Given the description of an element on the screen output the (x, y) to click on. 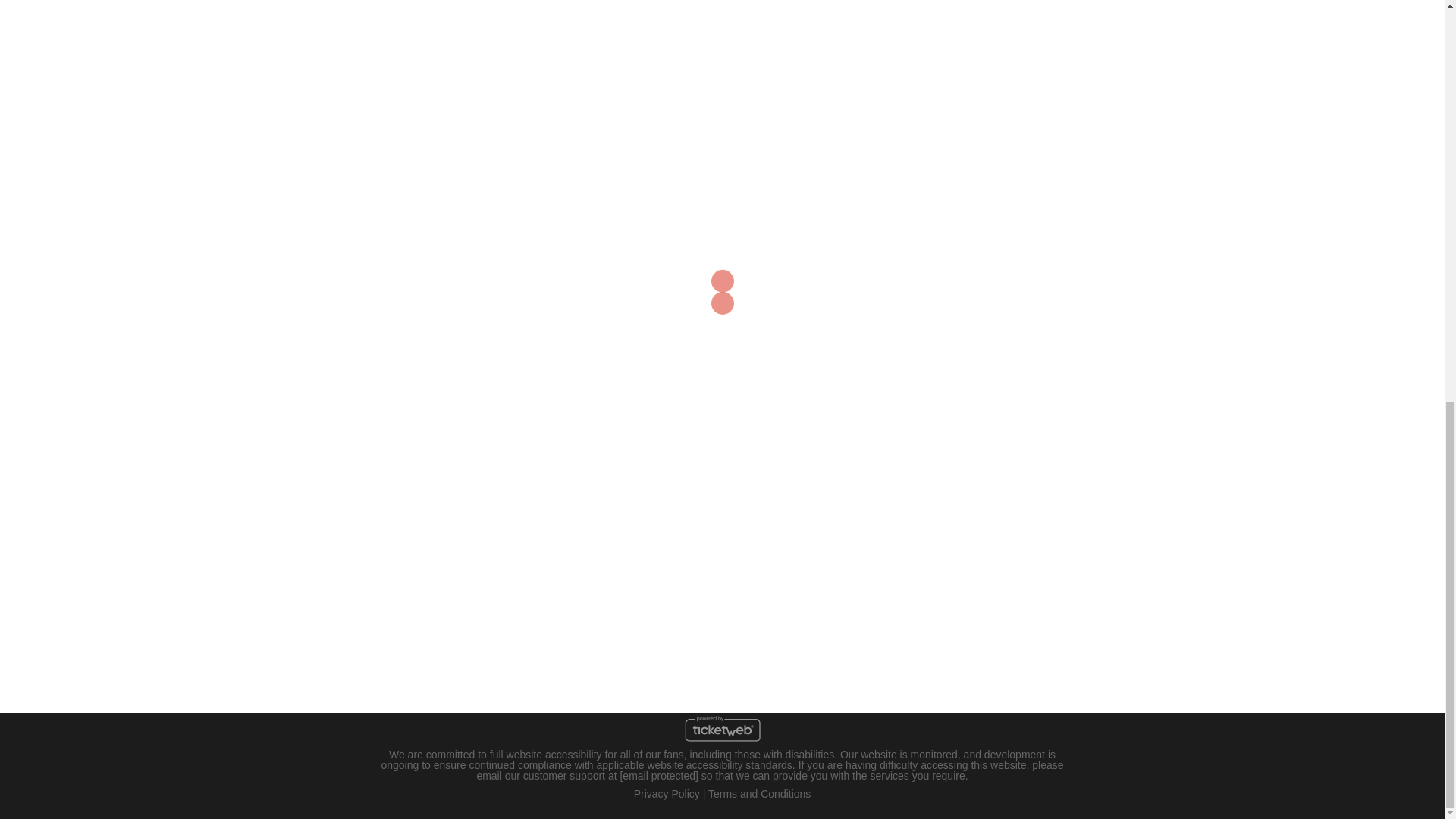
Terms and Conditions (758, 793)
25 AVENUE A NEW YORK, NY 10009 (418, 578)
RESERVATIONS (721, 413)
Privacy Policy (666, 793)
